Given the description of an element on the screen output the (x, y) to click on. 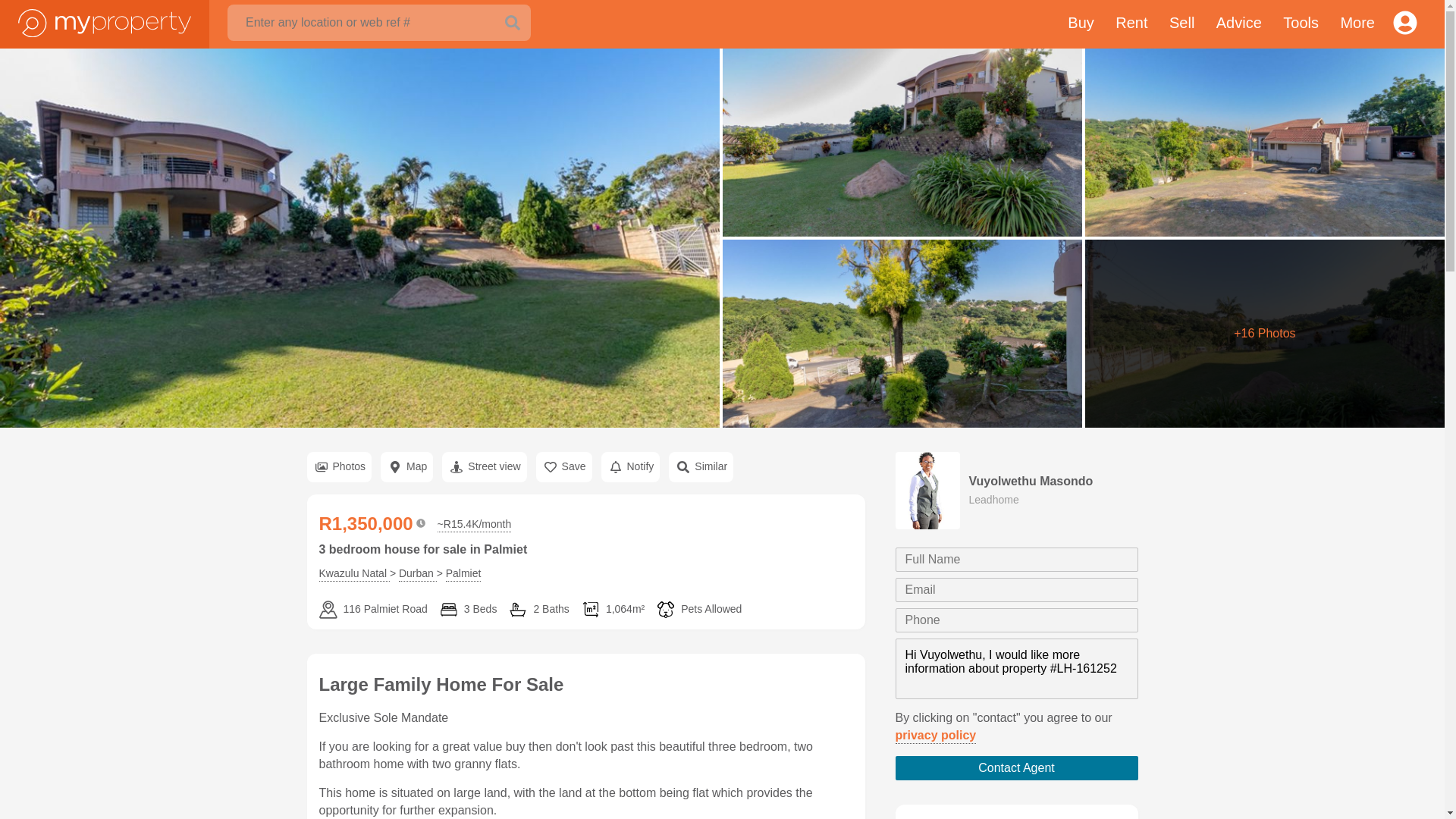
Sell (1181, 24)
Advice (1238, 24)
Your estimated total monthly repayments, click for details (475, 524)
Houses and Properties for sale and rent in South Africa (104, 21)
Property address (372, 610)
Pets allowed (698, 610)
Tools (1300, 24)
Rent (1131, 24)
Buy (1080, 24)
